Given the description of an element on the screen output the (x, y) to click on. 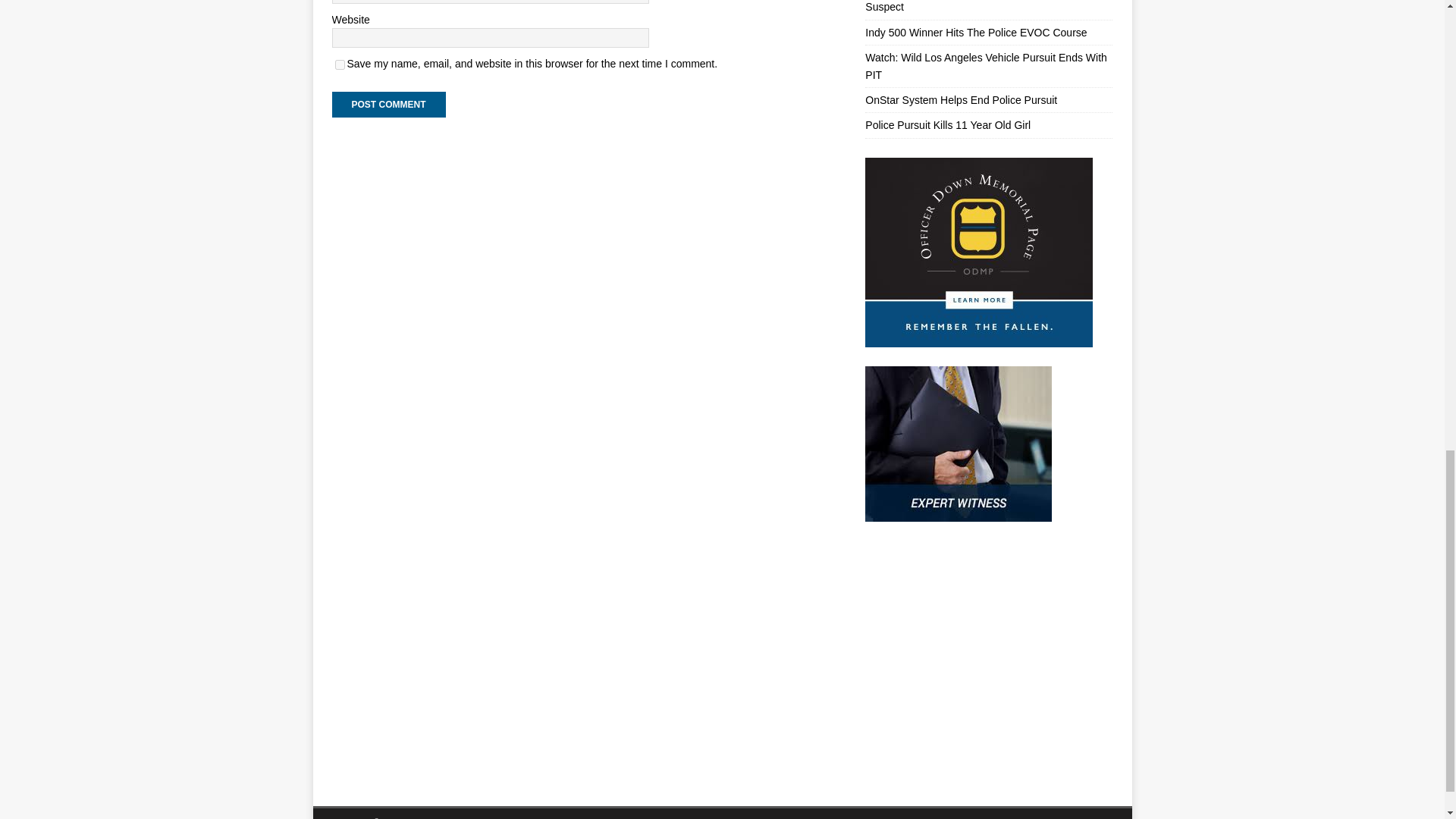
OnStar System Helps End Police Pursuit (960, 100)
yes (339, 64)
Watch: Police Officer Fired After Patrol Car Hits Suspect (975, 6)
Post Comment (388, 104)
Watch: Wild Los Angeles Vehicle Pursuit Ends With PIT (985, 65)
Kegenix by Real Ketones, Unlock Your True Potential (978, 654)
Post Comment (388, 104)
Police Pursuit Kills 11 Year Old Girl (947, 124)
Indy 500 Winner Hits The Police EVOC Course (975, 32)
